Given the description of an element on the screen output the (x, y) to click on. 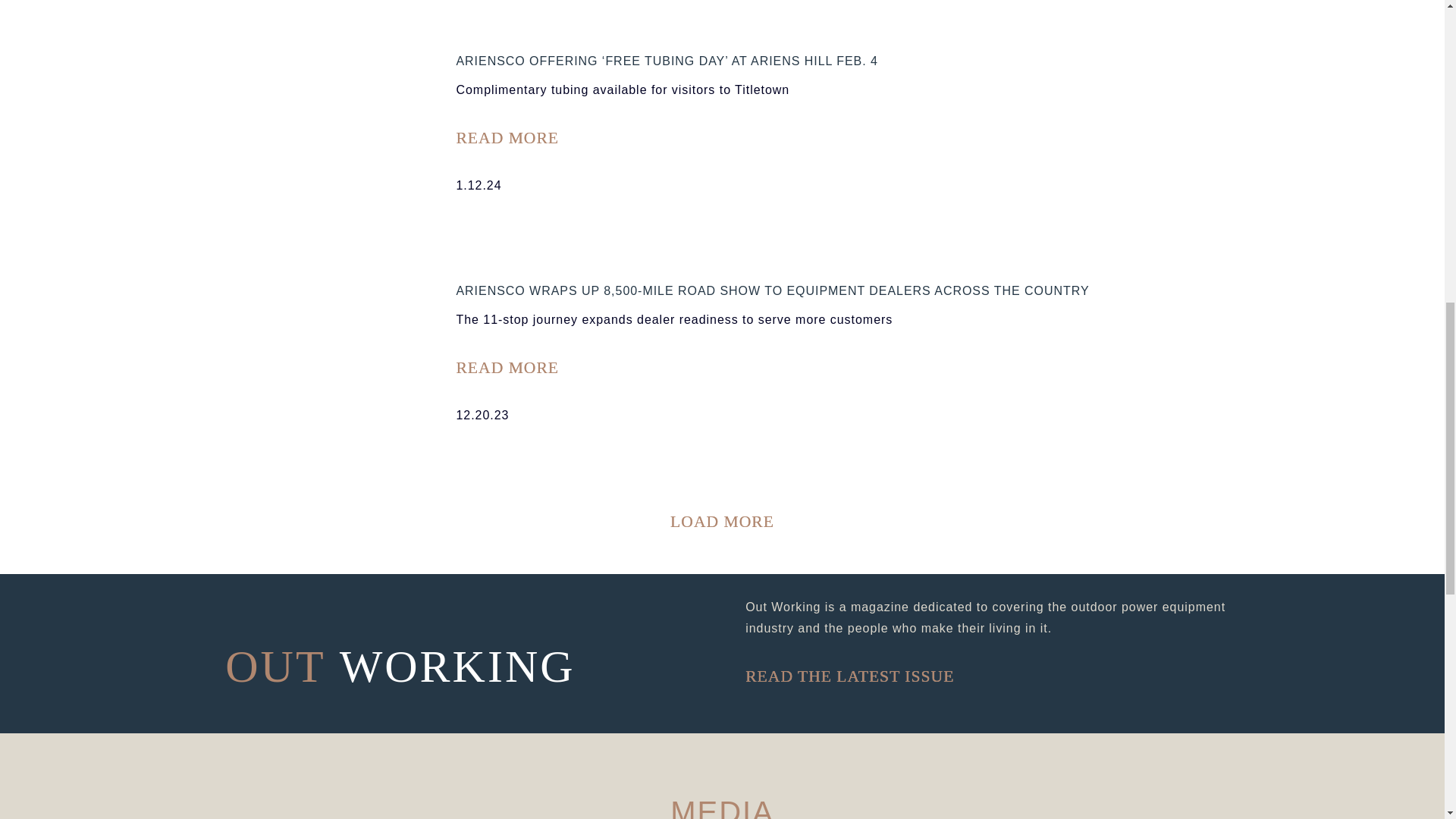
READ MORE (507, 367)
LOAD MORE (721, 521)
READ THE LATEST ISSUE (849, 676)
READ MORE (507, 137)
